Given the description of an element on the screen output the (x, y) to click on. 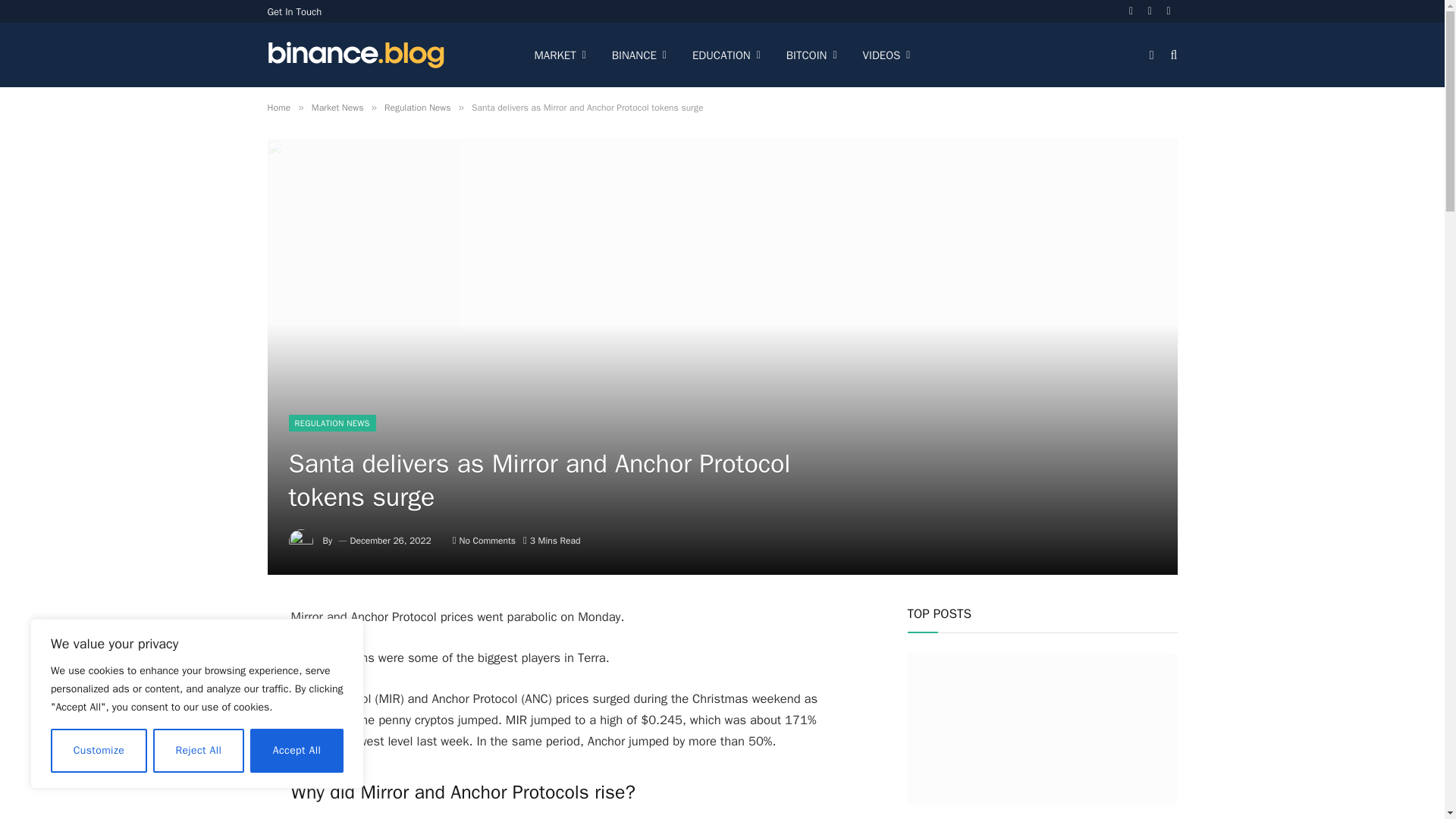
Get In Touch (294, 11)
Accept All (296, 750)
Customize (98, 750)
BINANCE (638, 54)
MARKET (559, 54)
Reject All (198, 750)
